Given the description of an element on the screen output the (x, y) to click on. 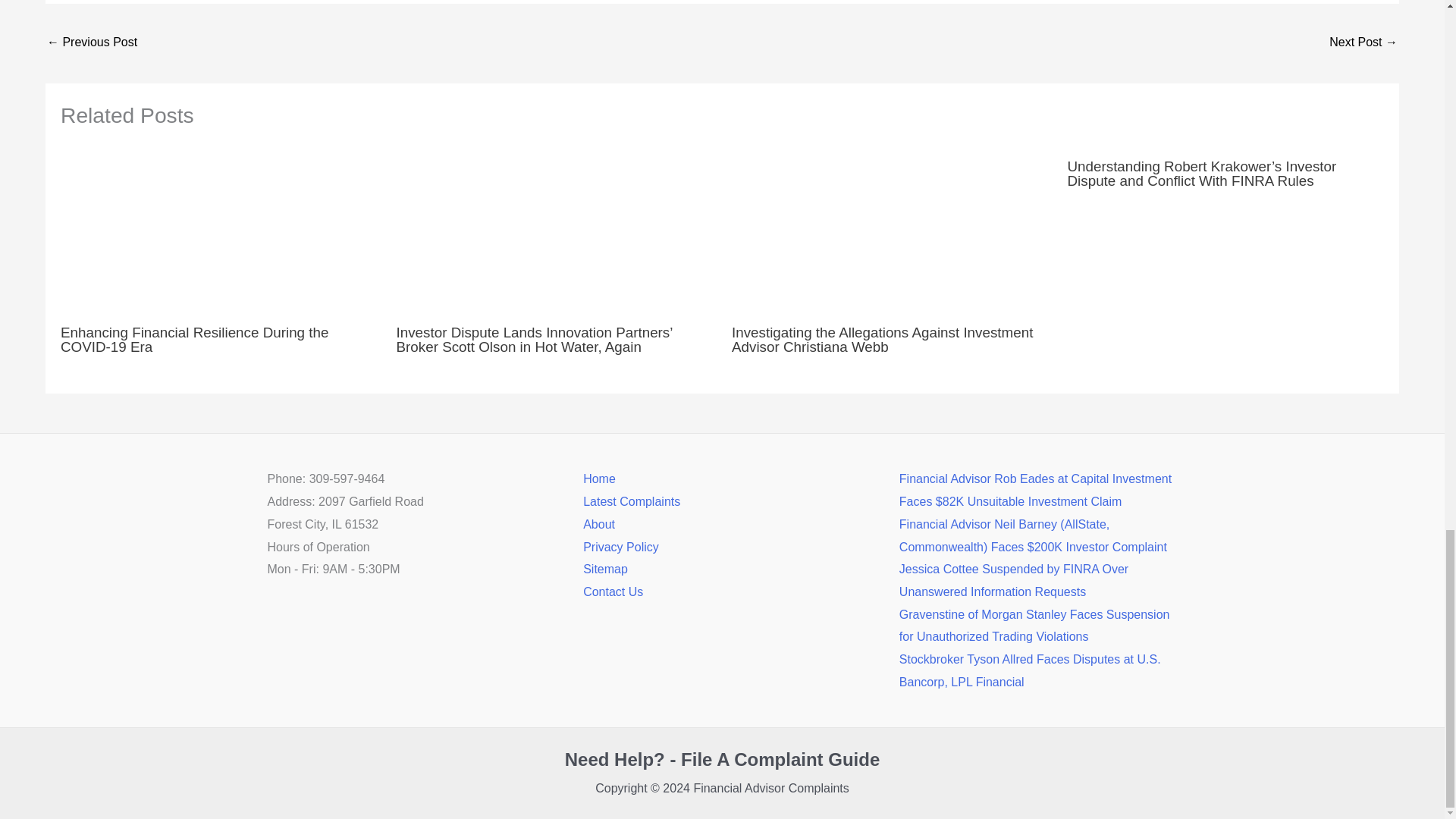
Enhancing Financial Resilience During the COVID-19 Era (219, 230)
A Chilling Tale of Betrayal: Marc Jay Frankel's Downfall (91, 43)
Enhancing Financial Resilience During the COVID-19 Era (195, 339)
